Given the description of an element on the screen output the (x, y) to click on. 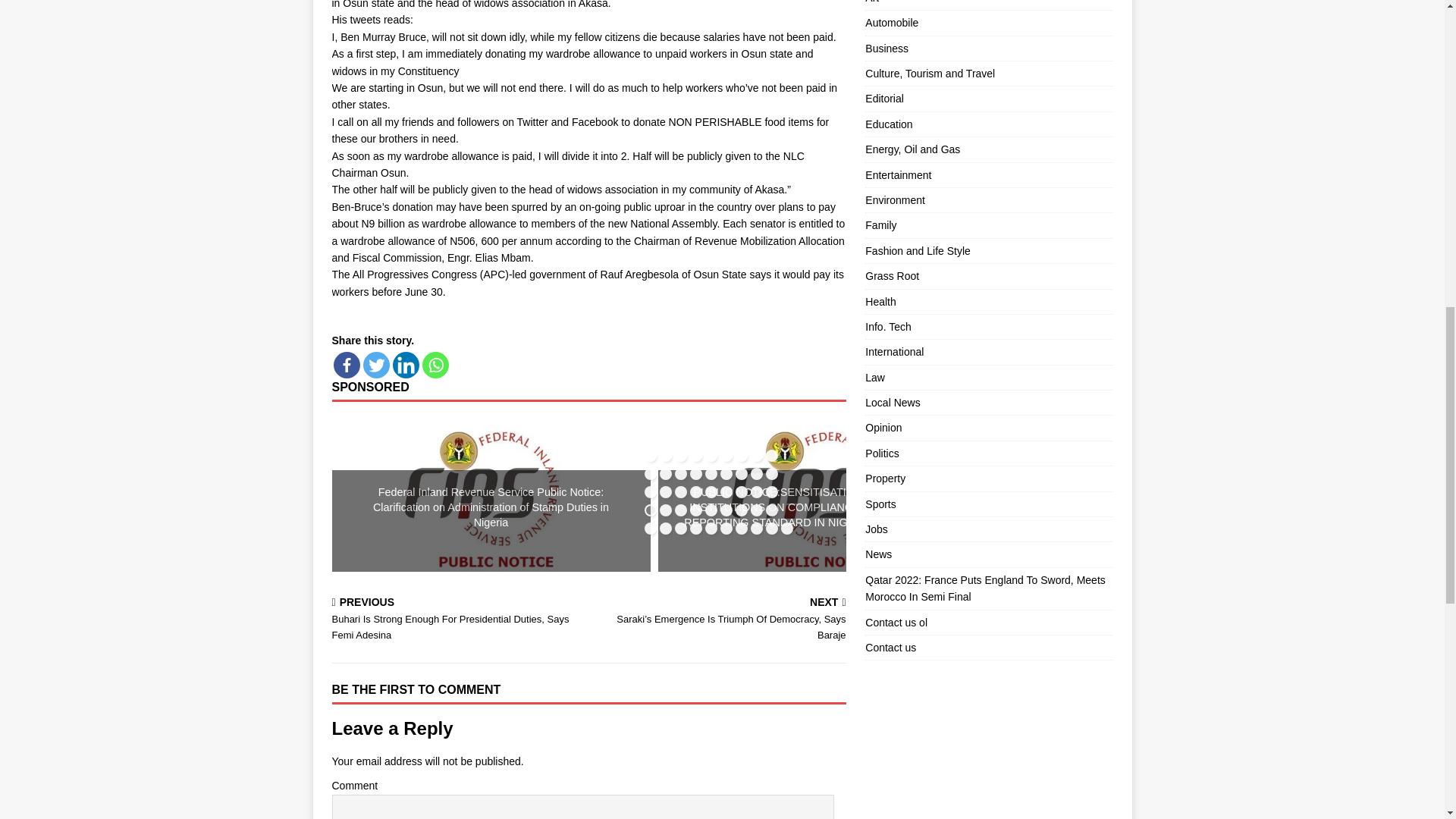
Twitter (375, 365)
FIRS public notice (817, 494)
Facebook (346, 365)
FIRS public notice (490, 494)
Whatsapp (435, 365)
Linkedin (406, 365)
